Given the description of an element on the screen output the (x, y) to click on. 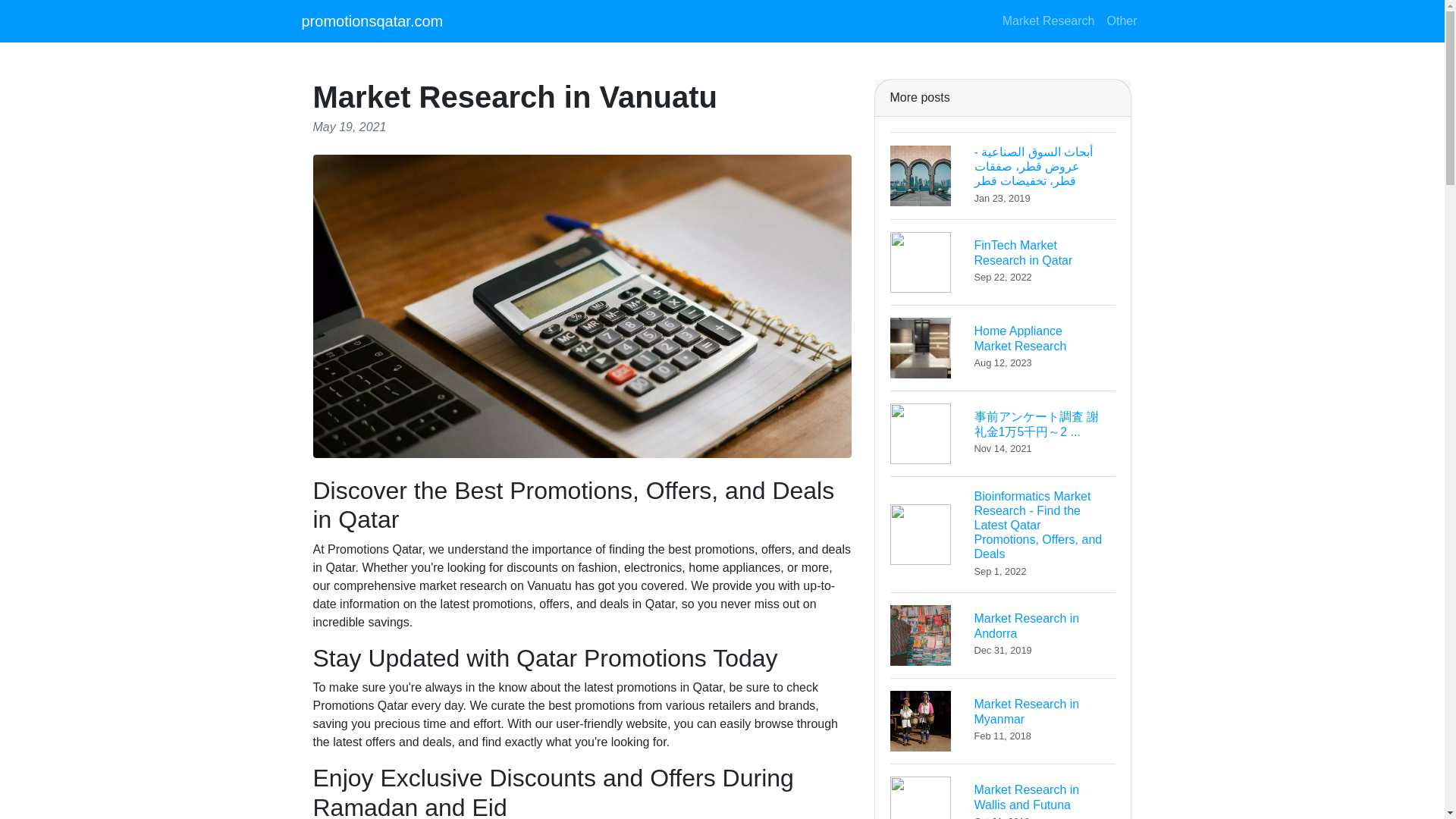
Market Research (1002, 720)
Other (1047, 20)
promotionsqatar.com (1002, 634)
